Given the description of an element on the screen output the (x, y) to click on. 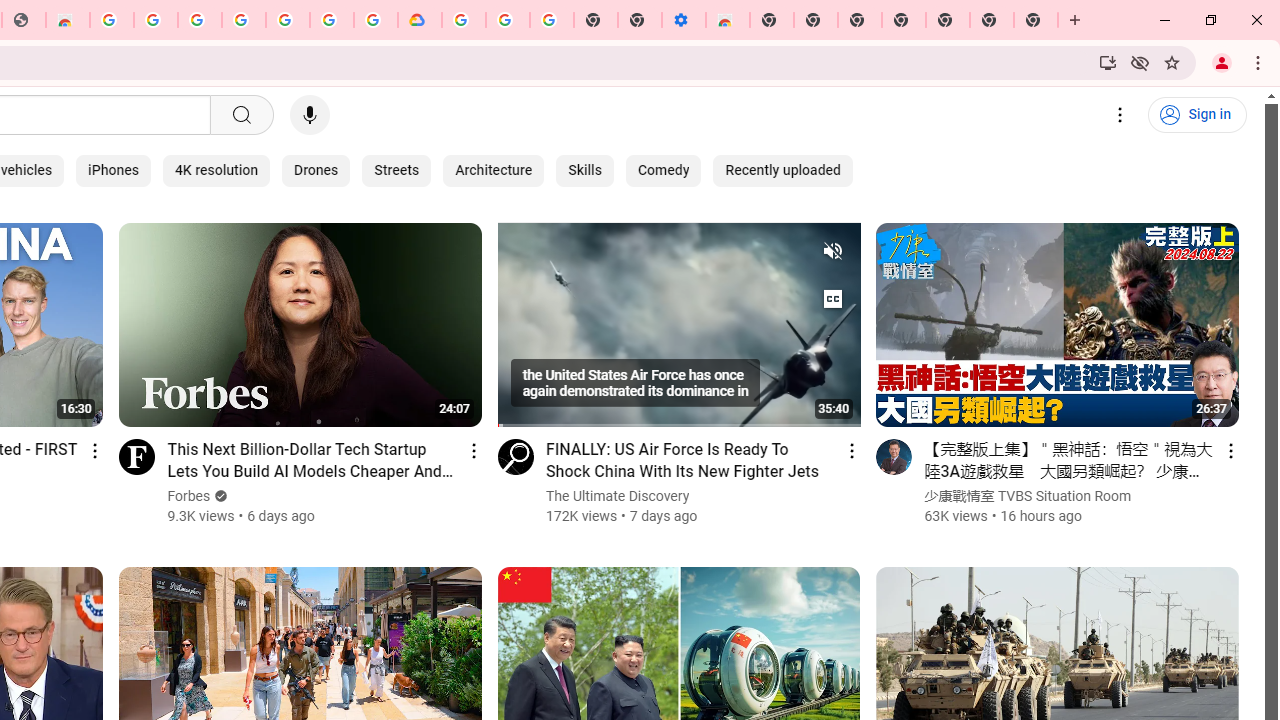
Recently uploaded (782, 170)
Turn cookies on or off - Computer - Google Account Help (551, 20)
